Given the description of an element on the screen output the (x, y) to click on. 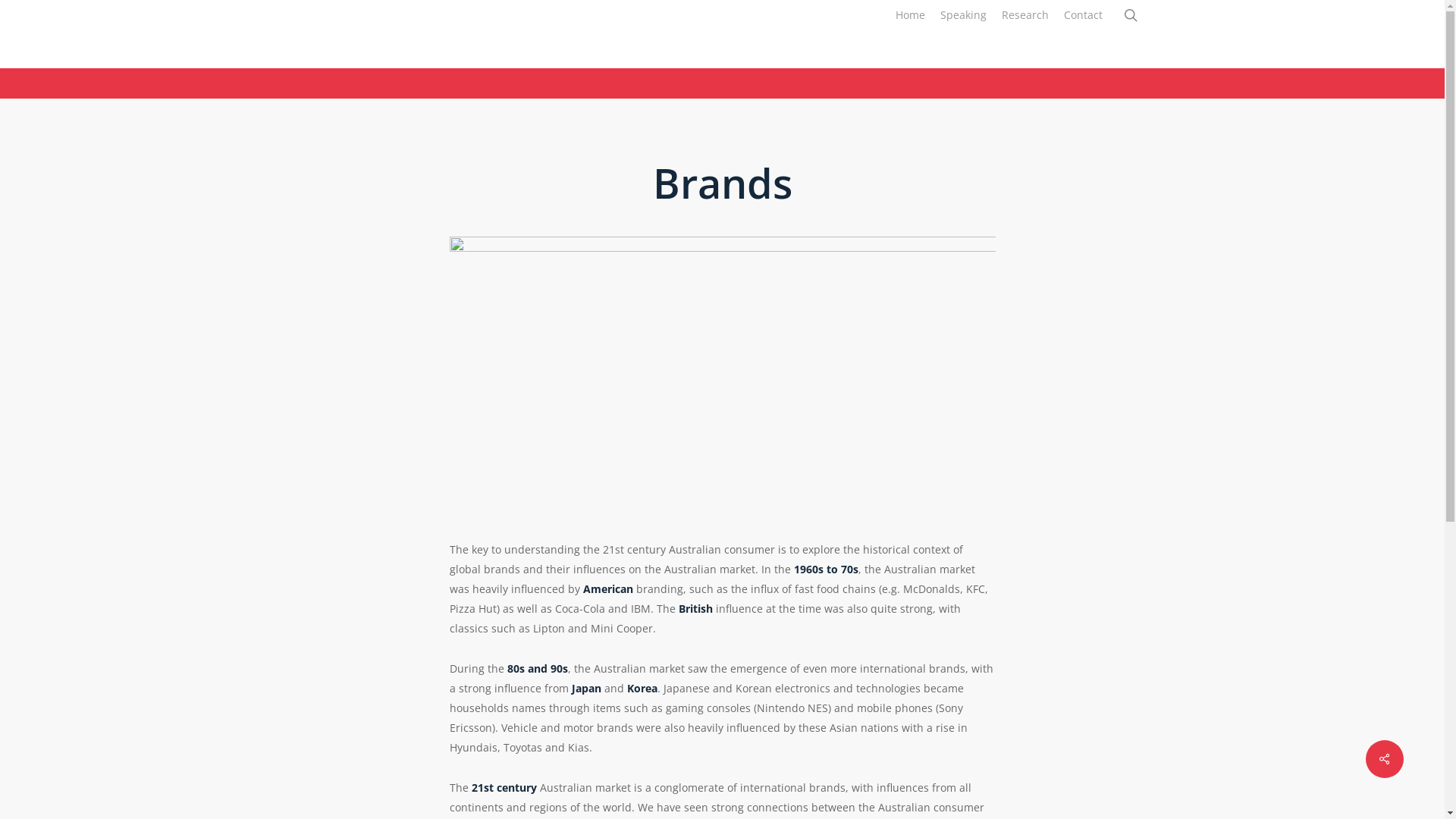
Research Element type: text (1024, 14)
search Element type: text (1129, 14)
Contact Element type: text (1082, 14)
Speaking Element type: text (963, 14)
Home Element type: text (909, 14)
